Given the description of an element on the screen output the (x, y) to click on. 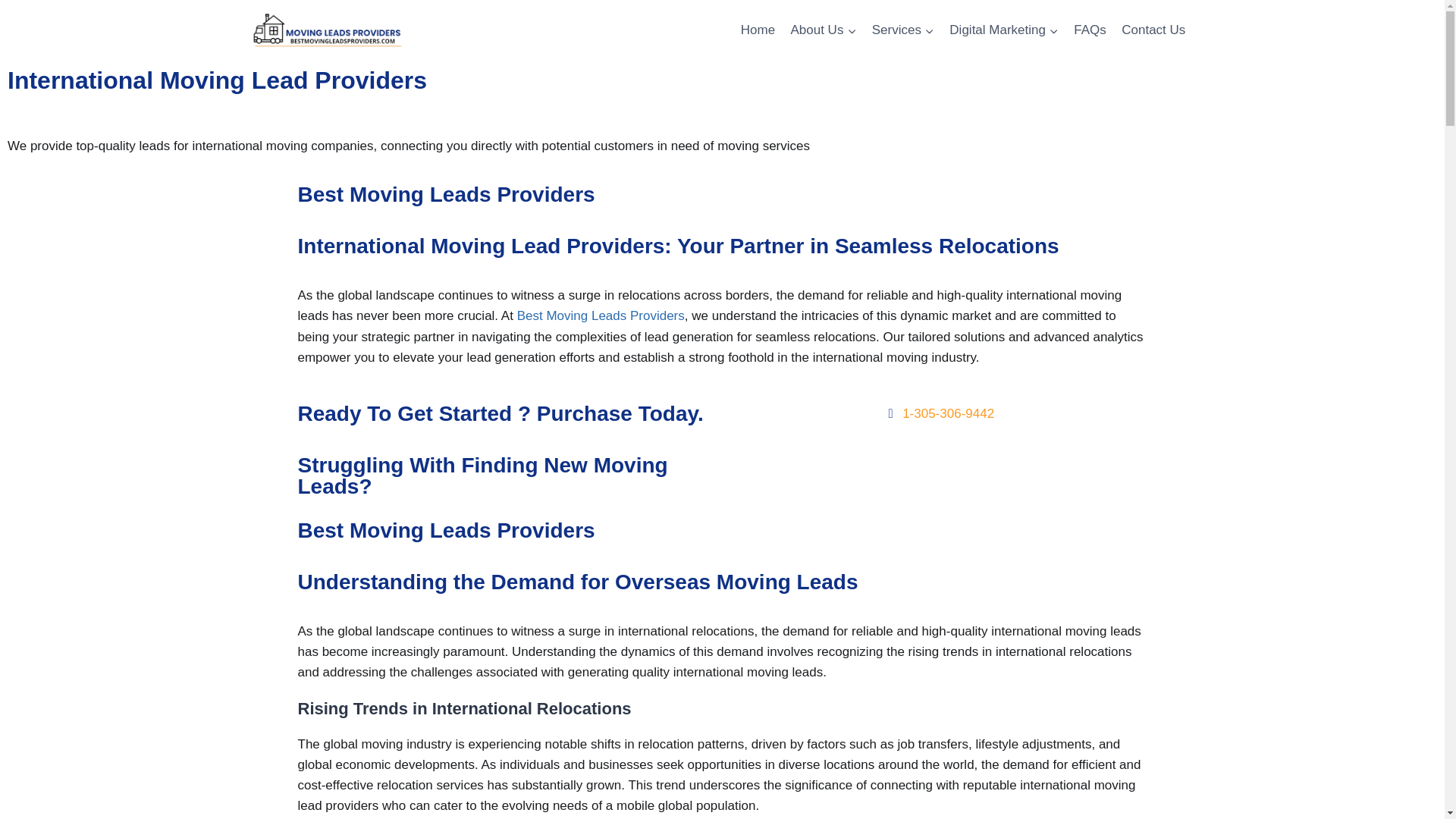
Services (903, 30)
Best Moving Leads Providers (600, 315)
1-305-306-9442 (938, 413)
Home (758, 30)
Digital Marketing (1003, 30)
FAQs (1089, 30)
Contact Us (1152, 30)
About Us (823, 30)
Start Now (939, 454)
